Given the description of an element on the screen output the (x, y) to click on. 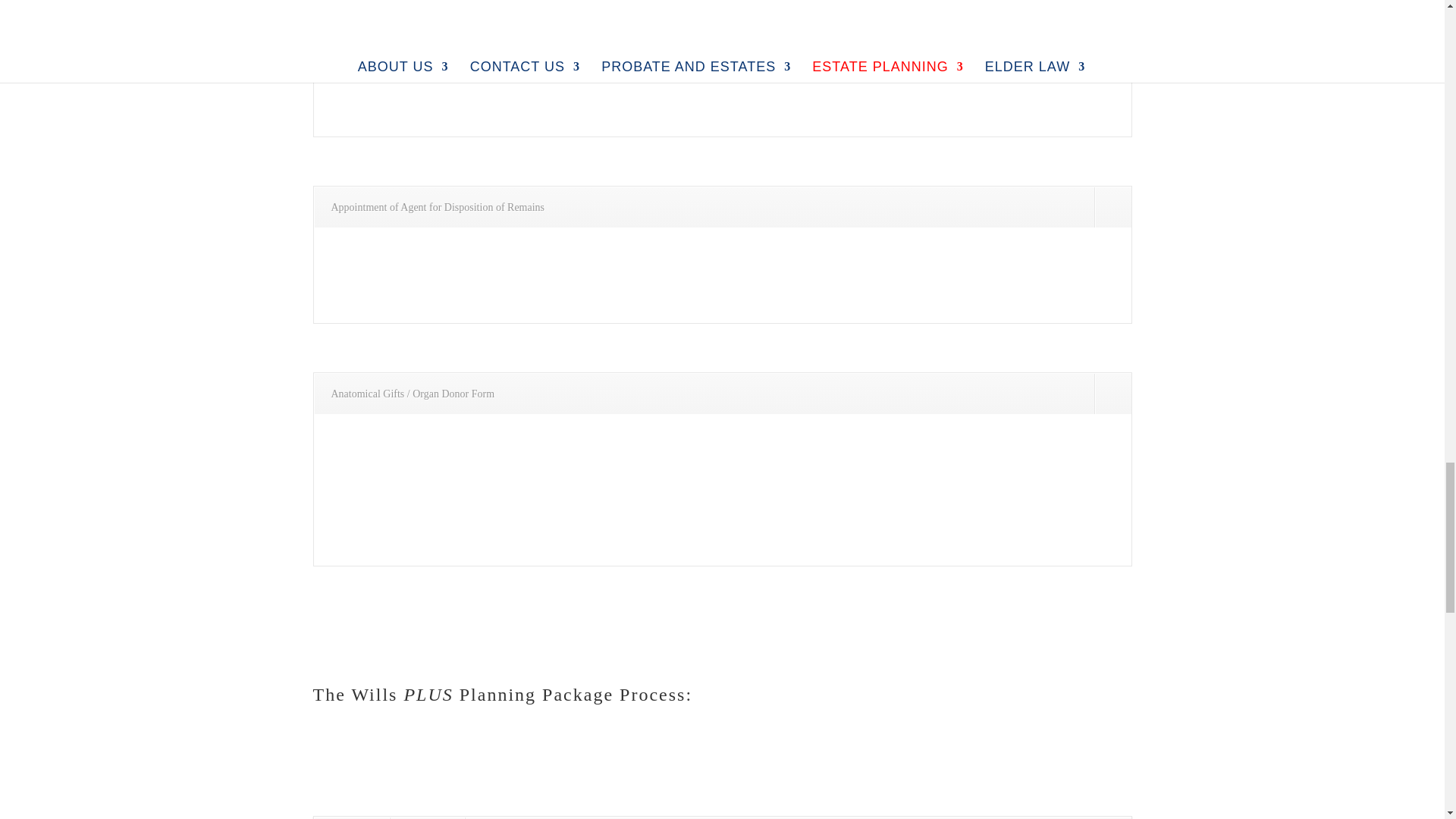
Step Two (427, 818)
Step One (351, 818)
